Given the description of an element on the screen output the (x, y) to click on. 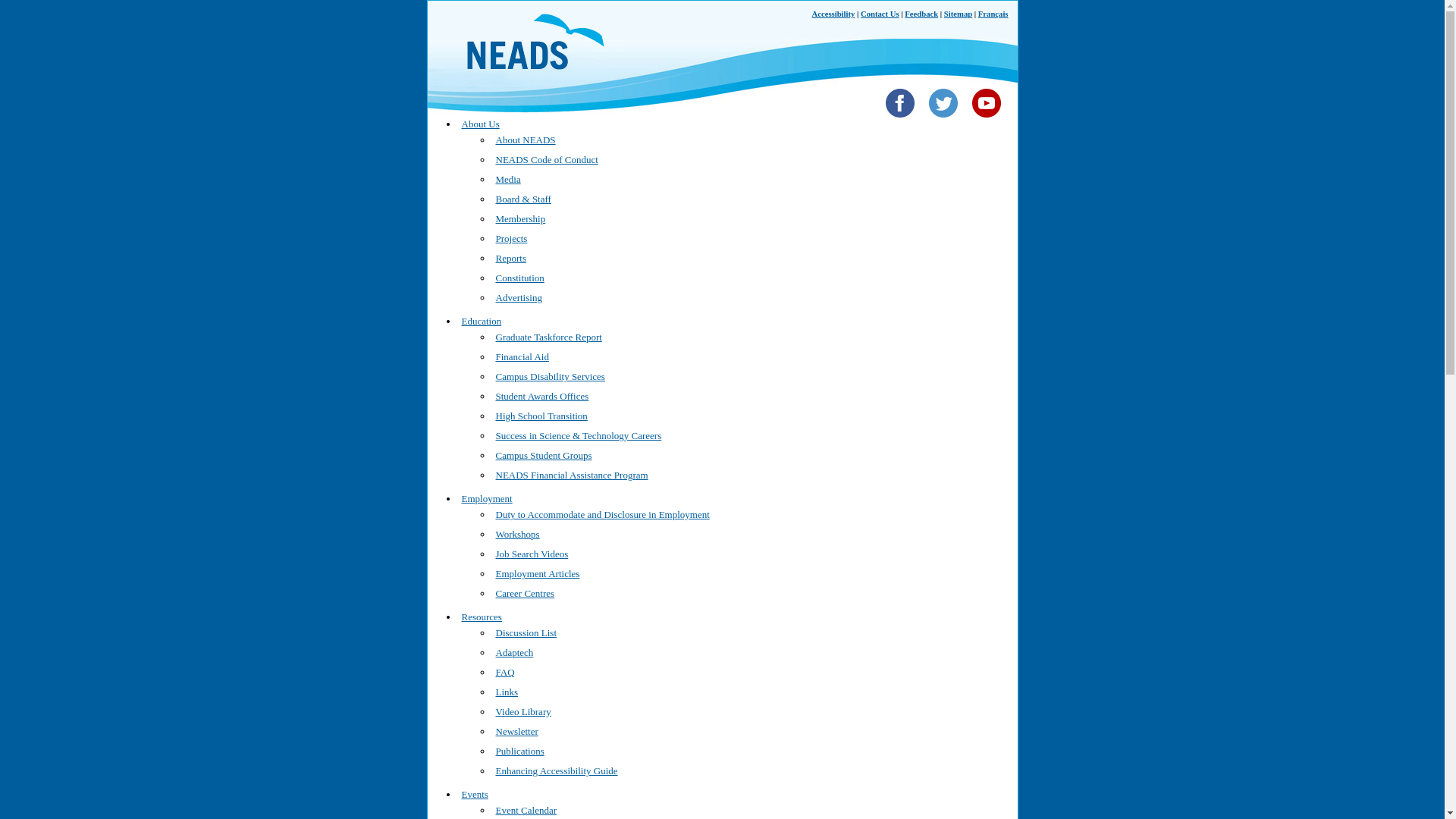
Media (508, 179)
Projects (511, 238)
Job Search Videos (532, 553)
Adaptech (515, 652)
NEADS Financial Assistance Program (571, 474)
Advertising (518, 297)
Workshops (518, 533)
Duty to Accommodate and Disclosure in Employment (603, 514)
About Us (480, 123)
Discussion List (526, 632)
Reports (510, 257)
Employment Articles (537, 573)
Accessibility (834, 13)
High School Transition (542, 415)
Financial Aid (522, 356)
